Given the description of an element on the screen output the (x, y) to click on. 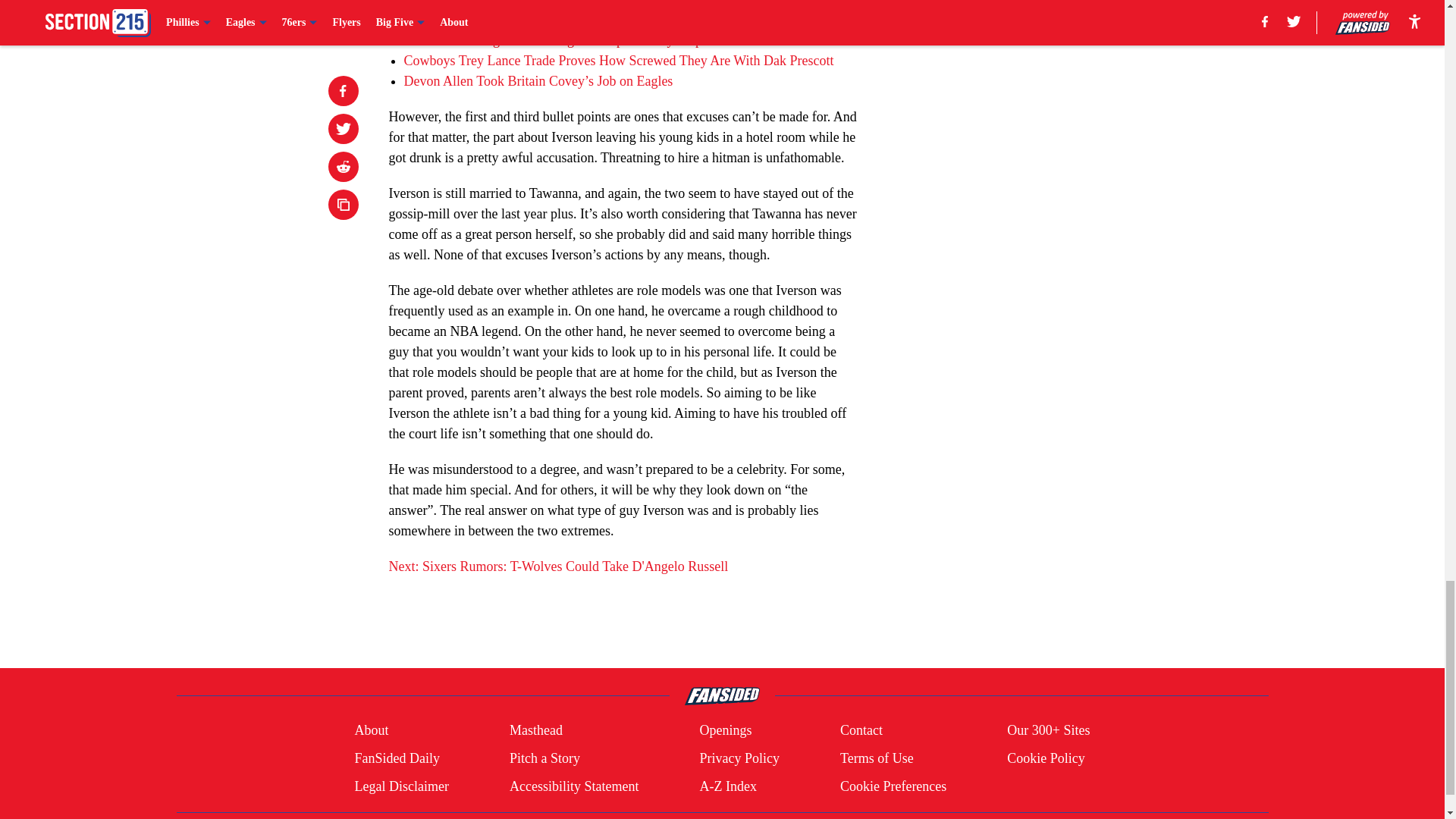
Next: Sixers Rumors: T-Wolves Could Take D'Angelo Russell (558, 566)
About (370, 730)
3 Punters the Eagles Must Target to Replace Arryn Siposs (561, 39)
Masthead (535, 730)
